Given the description of an element on the screen output the (x, y) to click on. 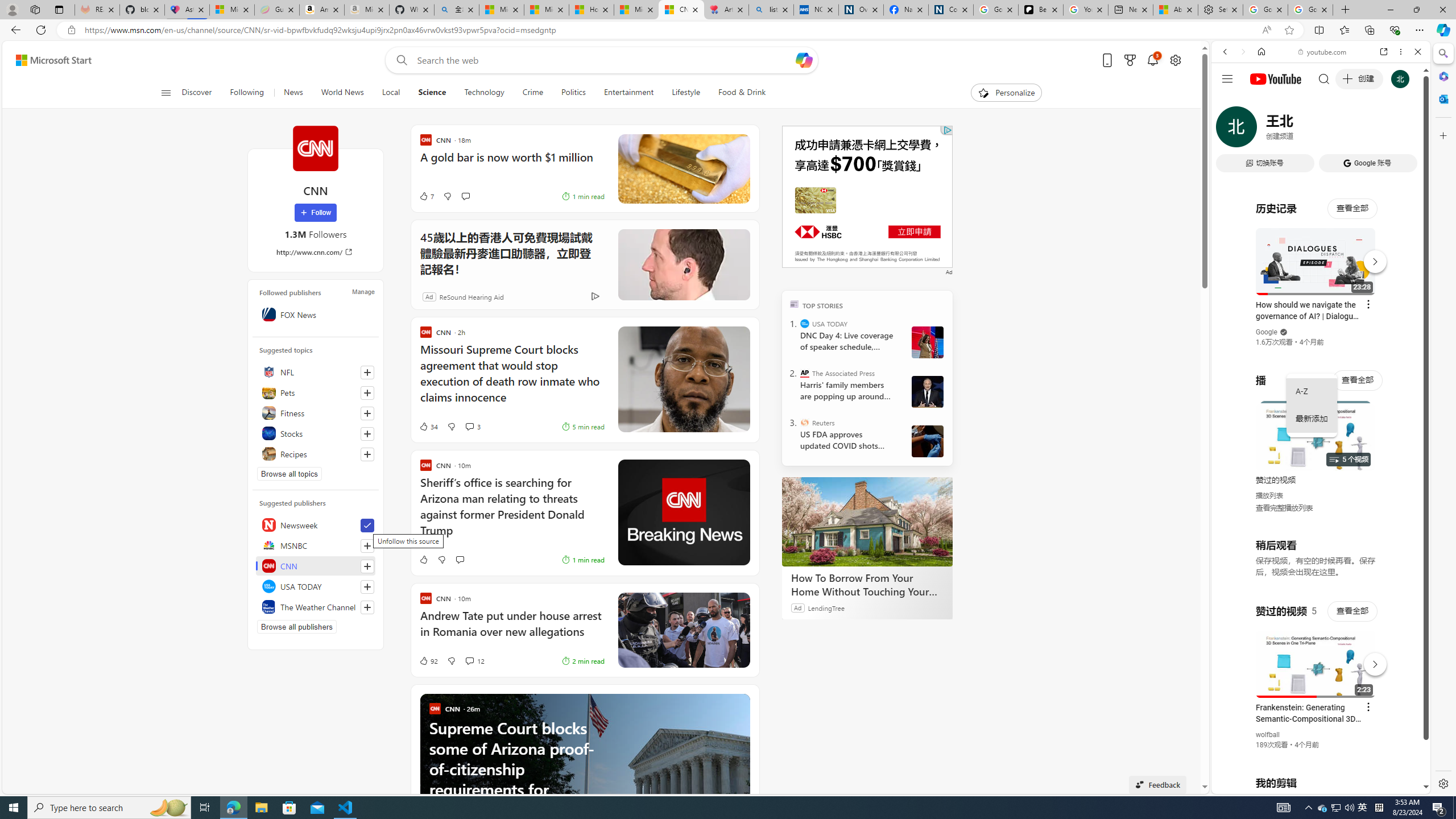
Stocks (315, 433)
Trailer #2 [HD] (1320, 336)
Microsoft rewards (1129, 60)
View comments 3 Comment (472, 426)
Follow this source (367, 607)
SEARCH TOOLS (1350, 130)
CNN (314, 148)
FOX News (315, 314)
YouTube (1315, 655)
